Given the description of an element on the screen output the (x, y) to click on. 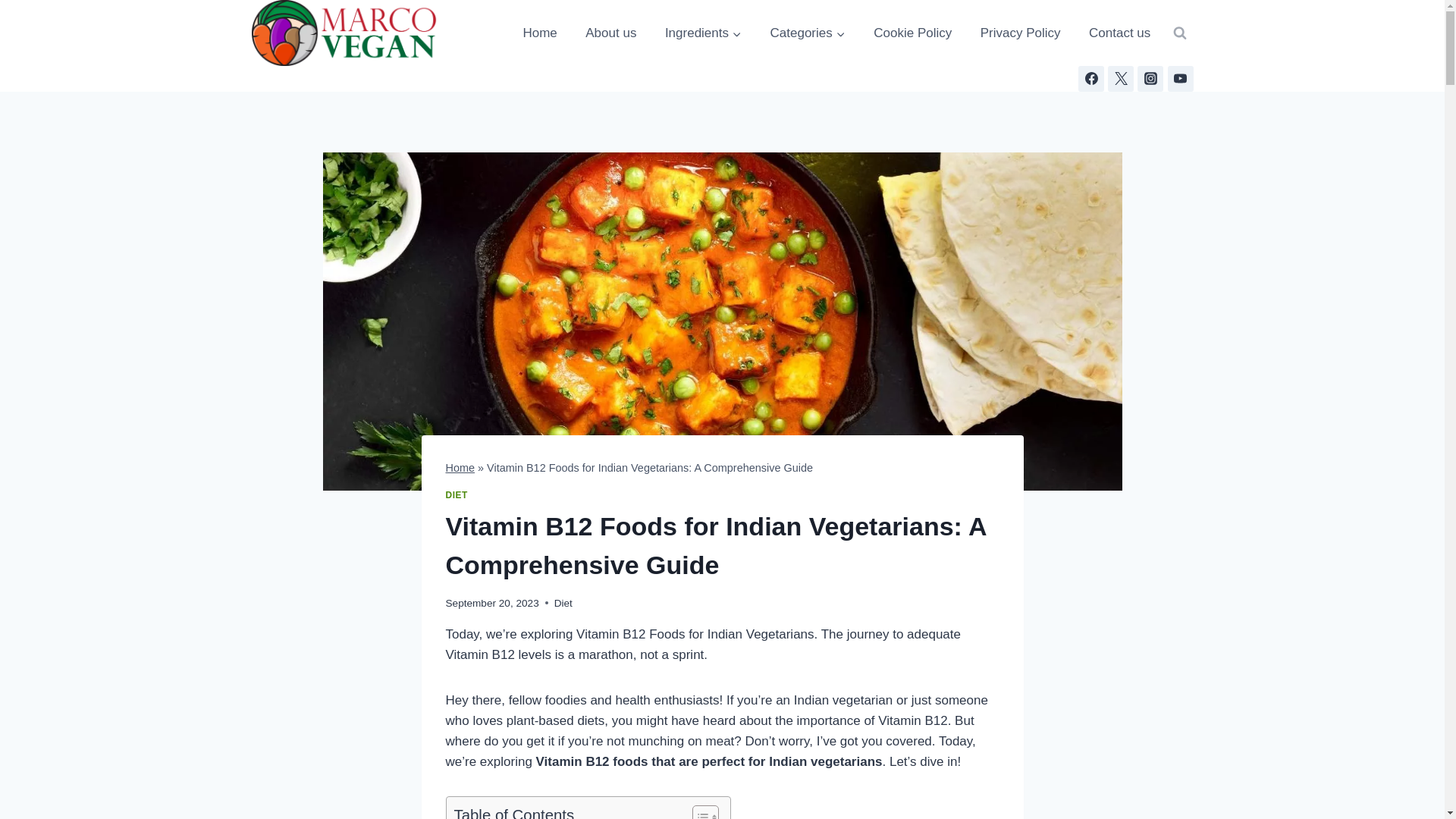
Diet (563, 603)
Contact us (1119, 33)
Cookie Policy (912, 33)
Ingredients (703, 33)
Privacy Policy (1020, 33)
Categories (807, 33)
DIET (456, 494)
About us (610, 33)
Home (539, 33)
Home (460, 467)
